Given the description of an element on the screen output the (x, y) to click on. 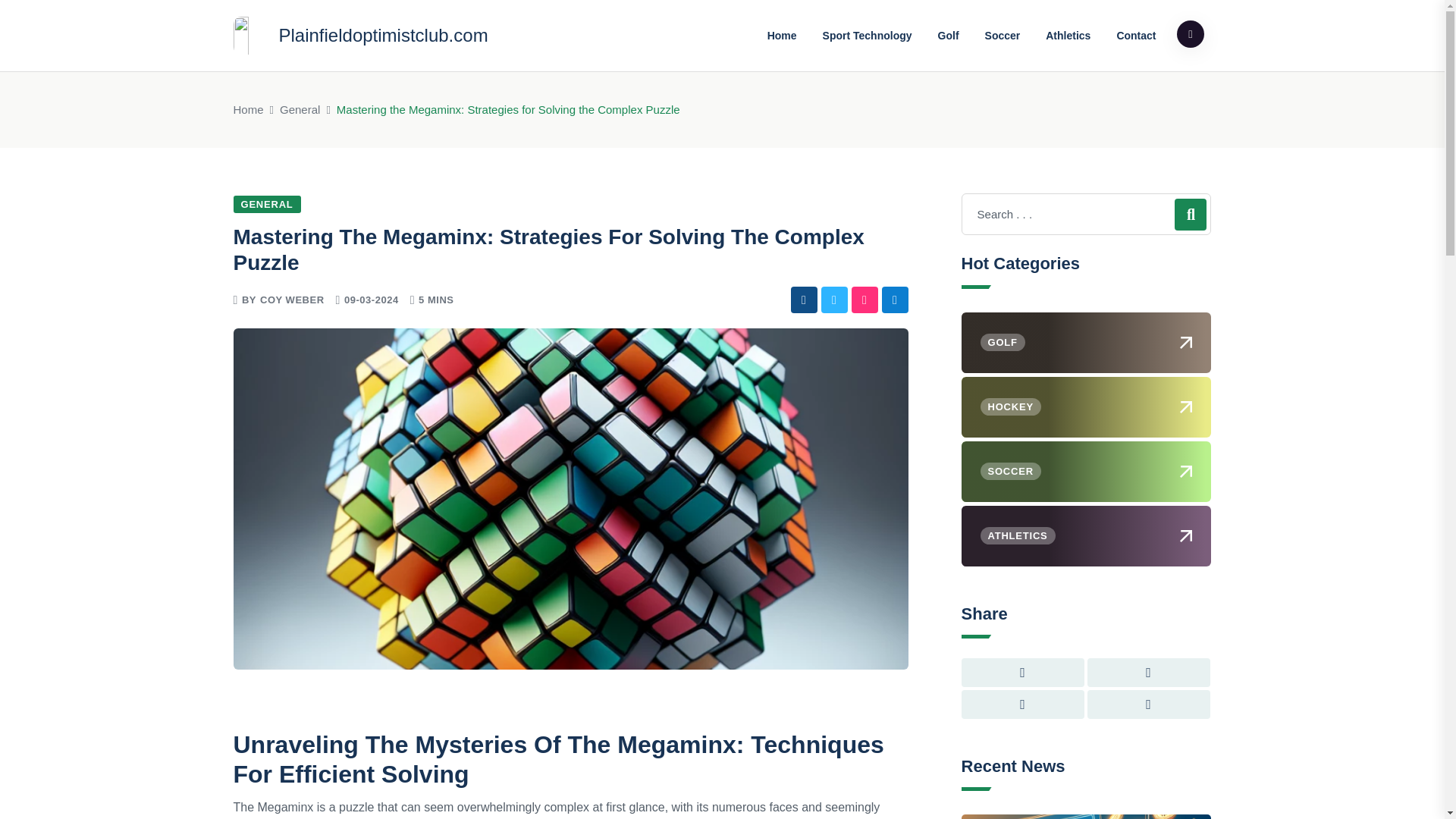
COY WEBER (292, 299)
GOLF (1085, 342)
General (299, 109)
Soccer (1002, 35)
Home (781, 35)
Contact (1136, 35)
HOCKEY (1085, 406)
Home (247, 109)
Sport Technology (866, 35)
GENERAL (266, 203)
ATHLETICS (1085, 536)
Plainfieldoptimistclub.com (359, 35)
Athletics (1067, 35)
Golf (948, 35)
SOCCER (1085, 471)
